Given the description of an element on the screen output the (x, y) to click on. 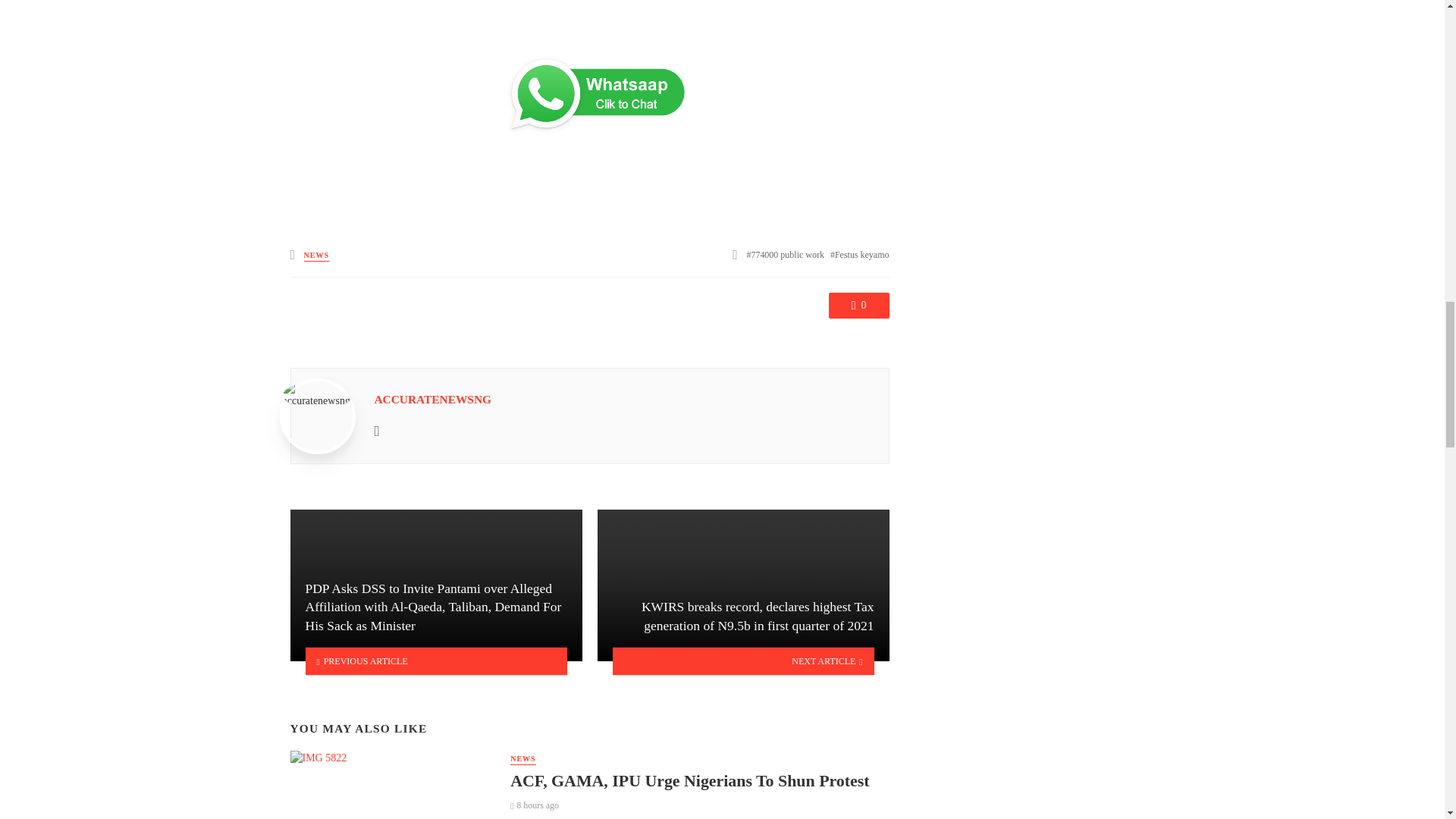
July 29, 2024 at 1:38 pm (535, 805)
0 Comments (858, 305)
Posts by accuratenewsng (433, 399)
